Given the description of an element on the screen output the (x, y) to click on. 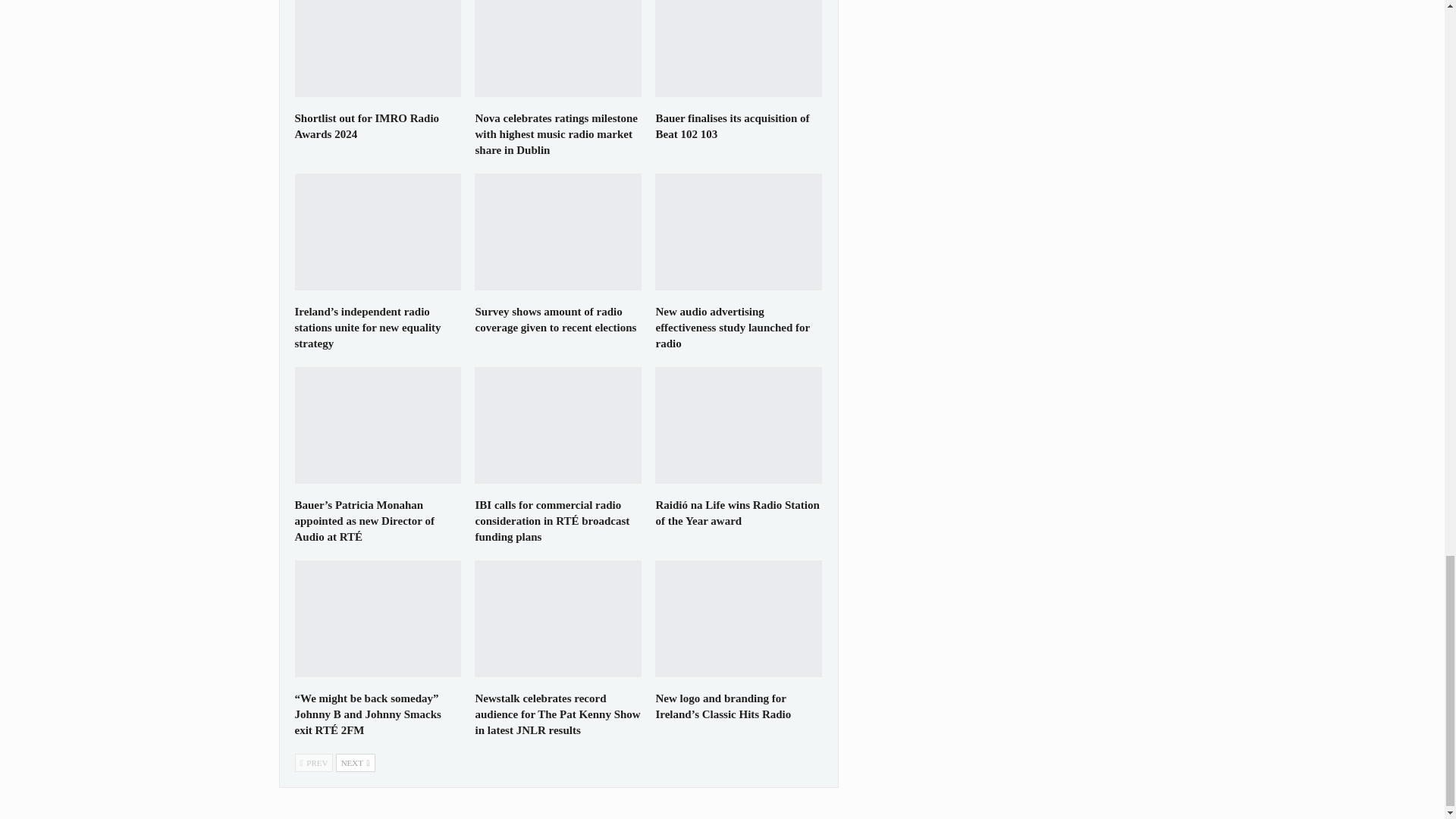
Bauer finalises its acquisition of Beat 102 103 (738, 48)
Shortlist out for IMRO Radio Awards 2024 (377, 48)
Bauer finalises its acquisition of Beat 102 103 (732, 126)
Shortlist out for IMRO Radio Awards 2024 (366, 126)
